Given the description of an element on the screen output the (x, y) to click on. 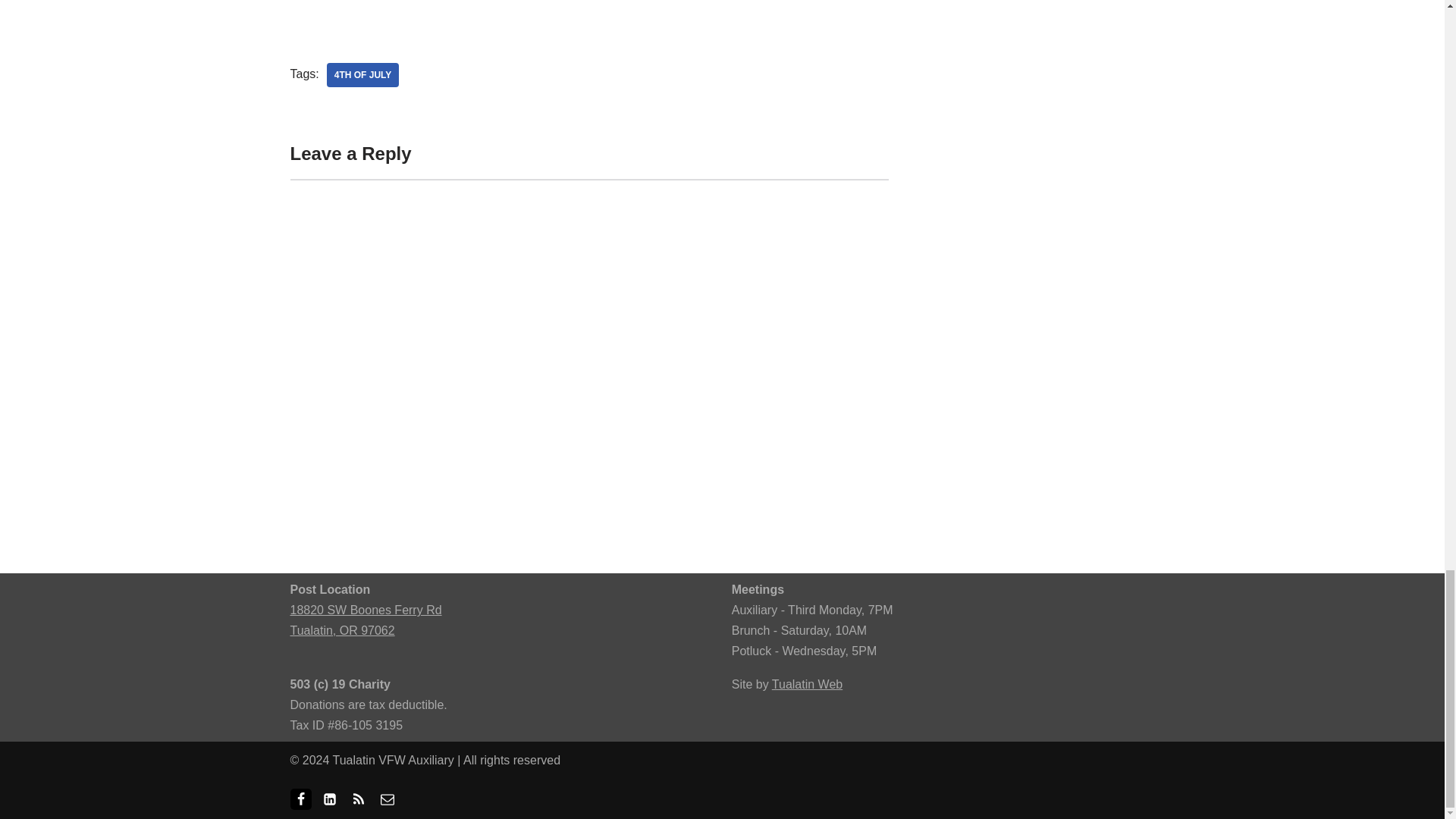
LinkedIn (328, 798)
Email (386, 798)
4th of July (362, 74)
Facebook (300, 798)
RSS (357, 798)
